Given the description of an element on the screen output the (x, y) to click on. 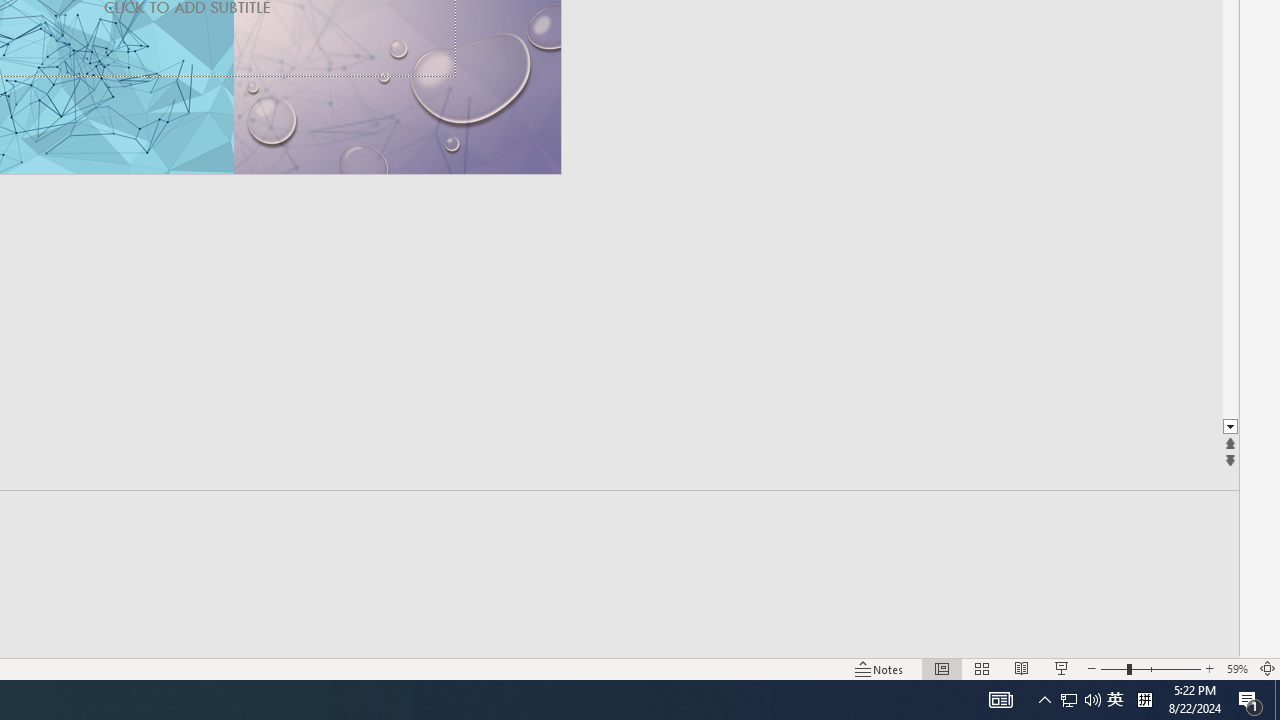
Zoom 59% (1236, 668)
